Given the description of an element on the screen output the (x, y) to click on. 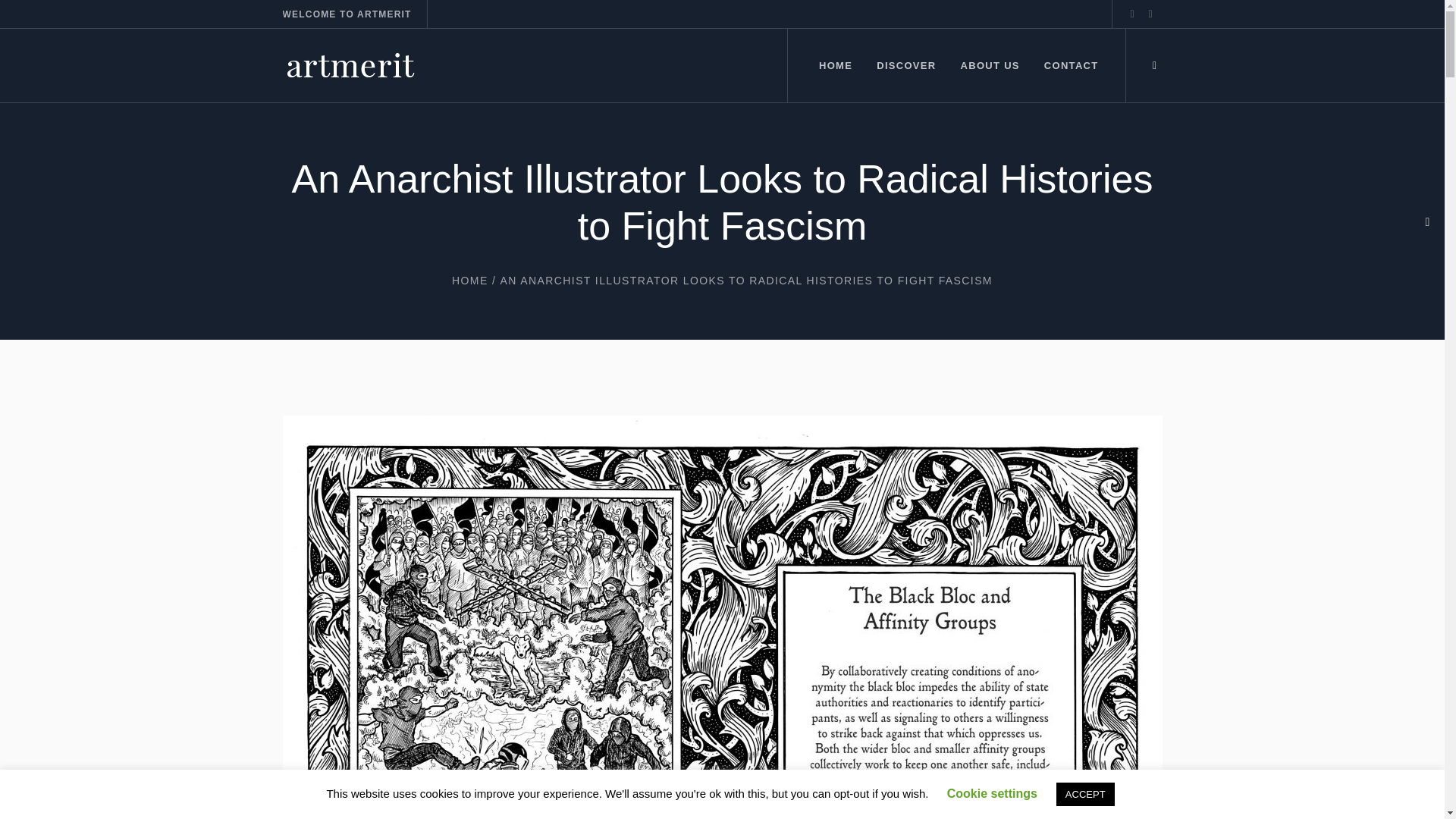
DISCOVER (905, 65)
Pinterest (1149, 13)
HOME (834, 65)
HOME (469, 280)
CONTACT (1070, 65)
Instagram (1132, 13)
ABOUT US (989, 65)
